Given the description of an element on the screen output the (x, y) to click on. 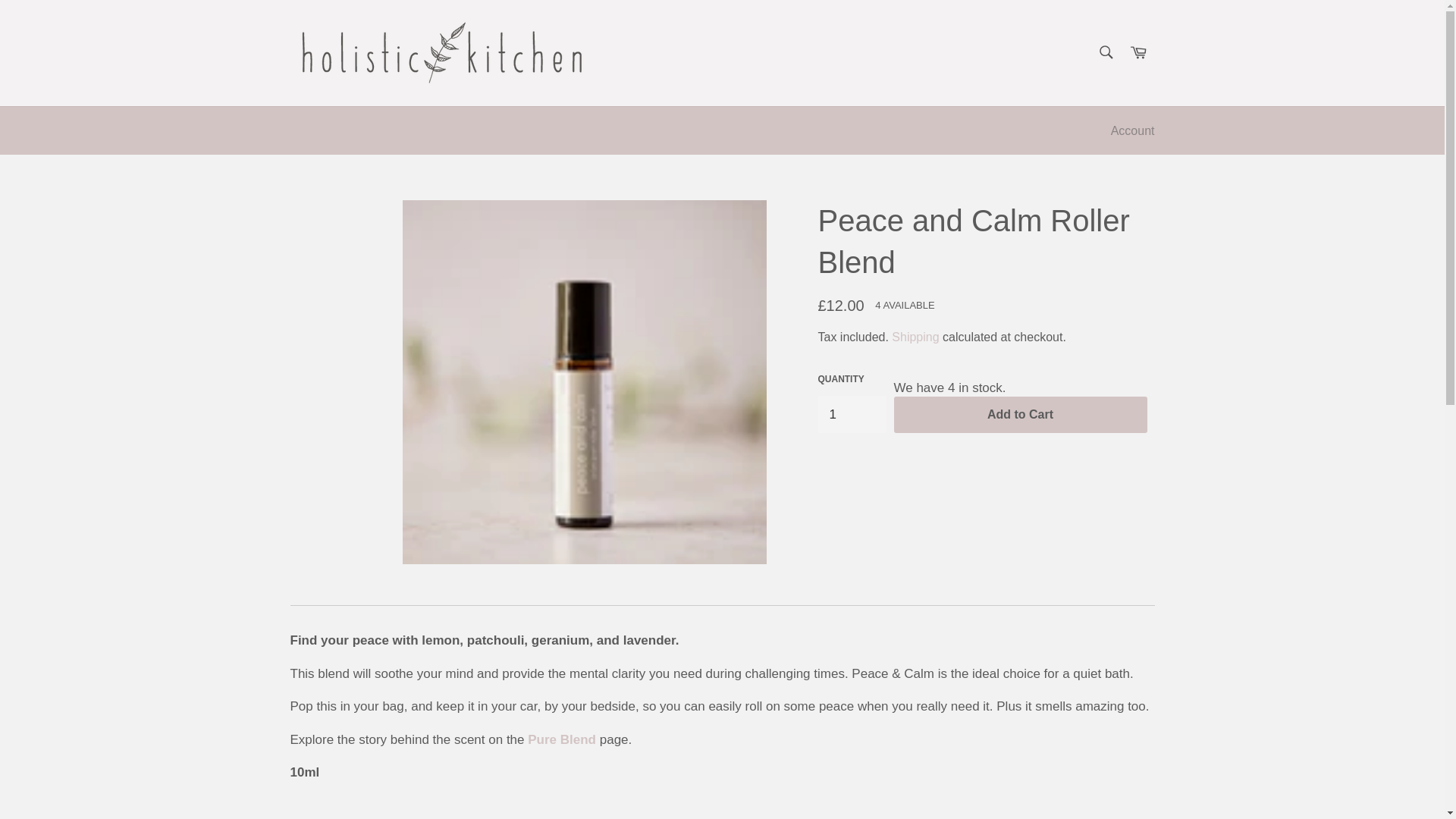
Cart (1138, 53)
peace and calm (561, 739)
Search (1104, 51)
1 (850, 414)
